Given the description of an element on the screen output the (x, y) to click on. 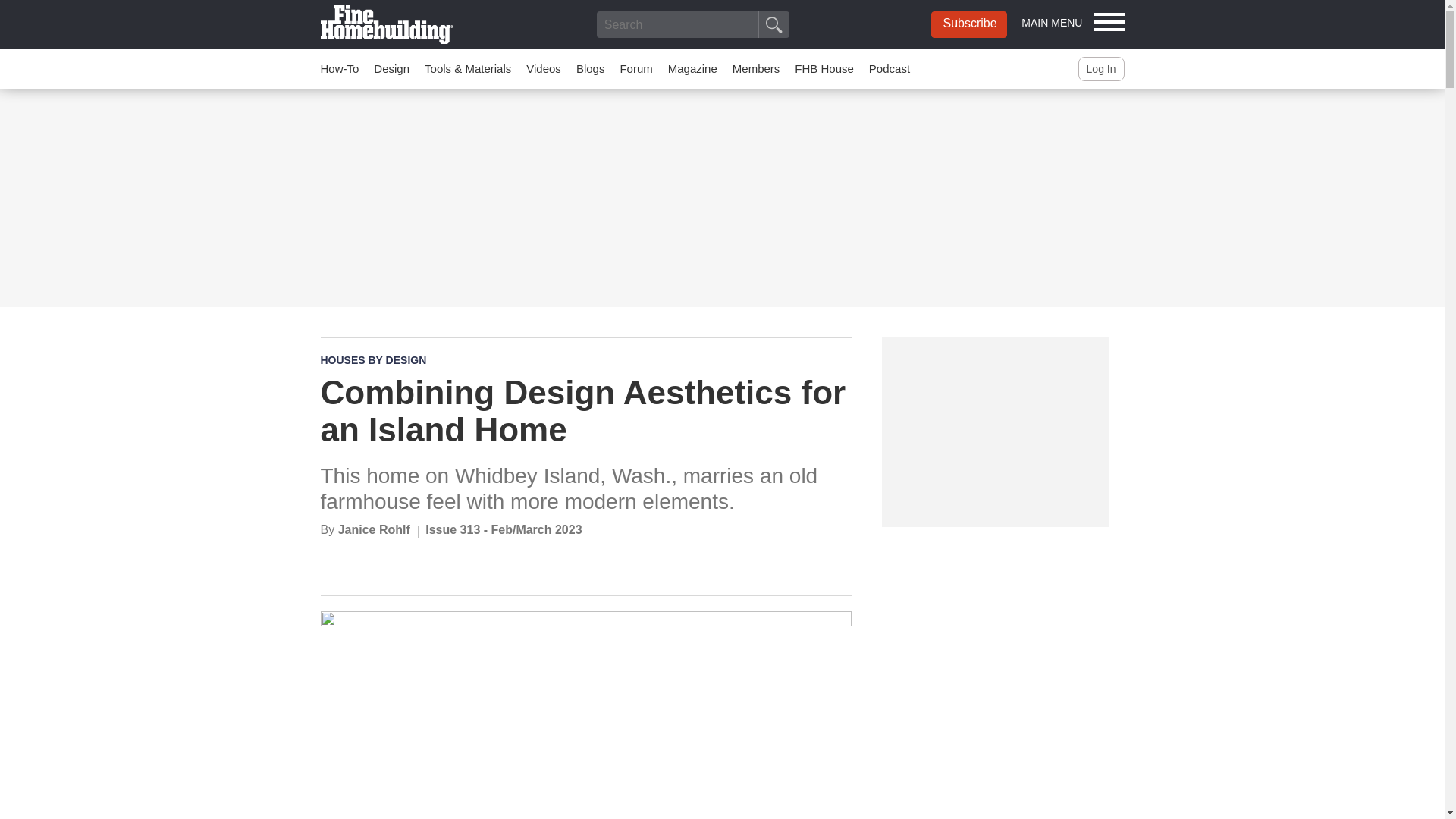
Design (391, 68)
Log In (1101, 68)
MAIN MENU (1073, 21)
Forum (636, 68)
Members (756, 68)
Janice Rohlf (373, 529)
SEARCH (773, 24)
FHB House (823, 68)
HOUSES BY DESIGN (373, 359)
Subscribe (969, 24)
